Given the description of an element on the screen output the (x, y) to click on. 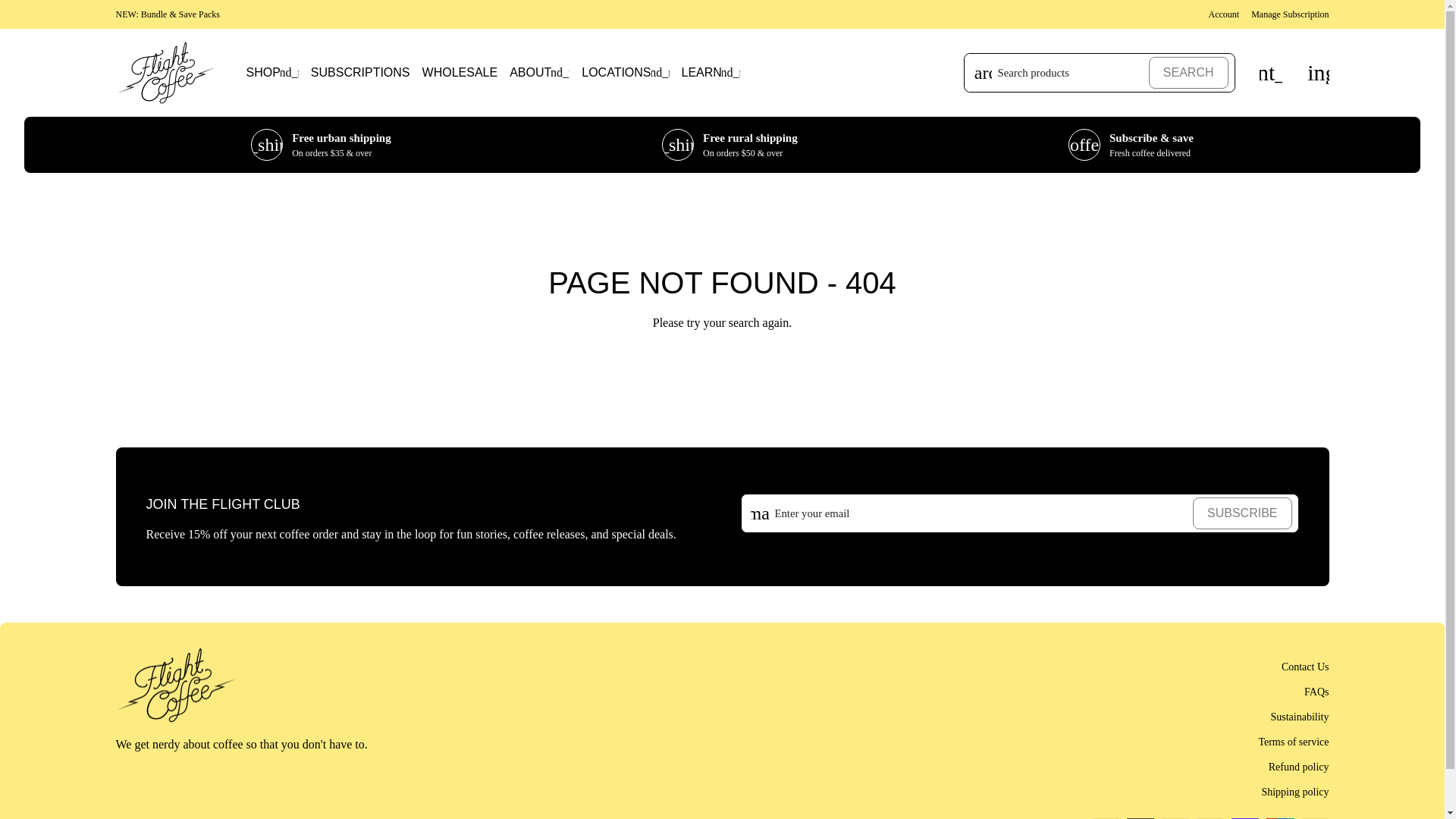
Subscribe (1241, 513)
